Given the description of an element on the screen output the (x, y) to click on. 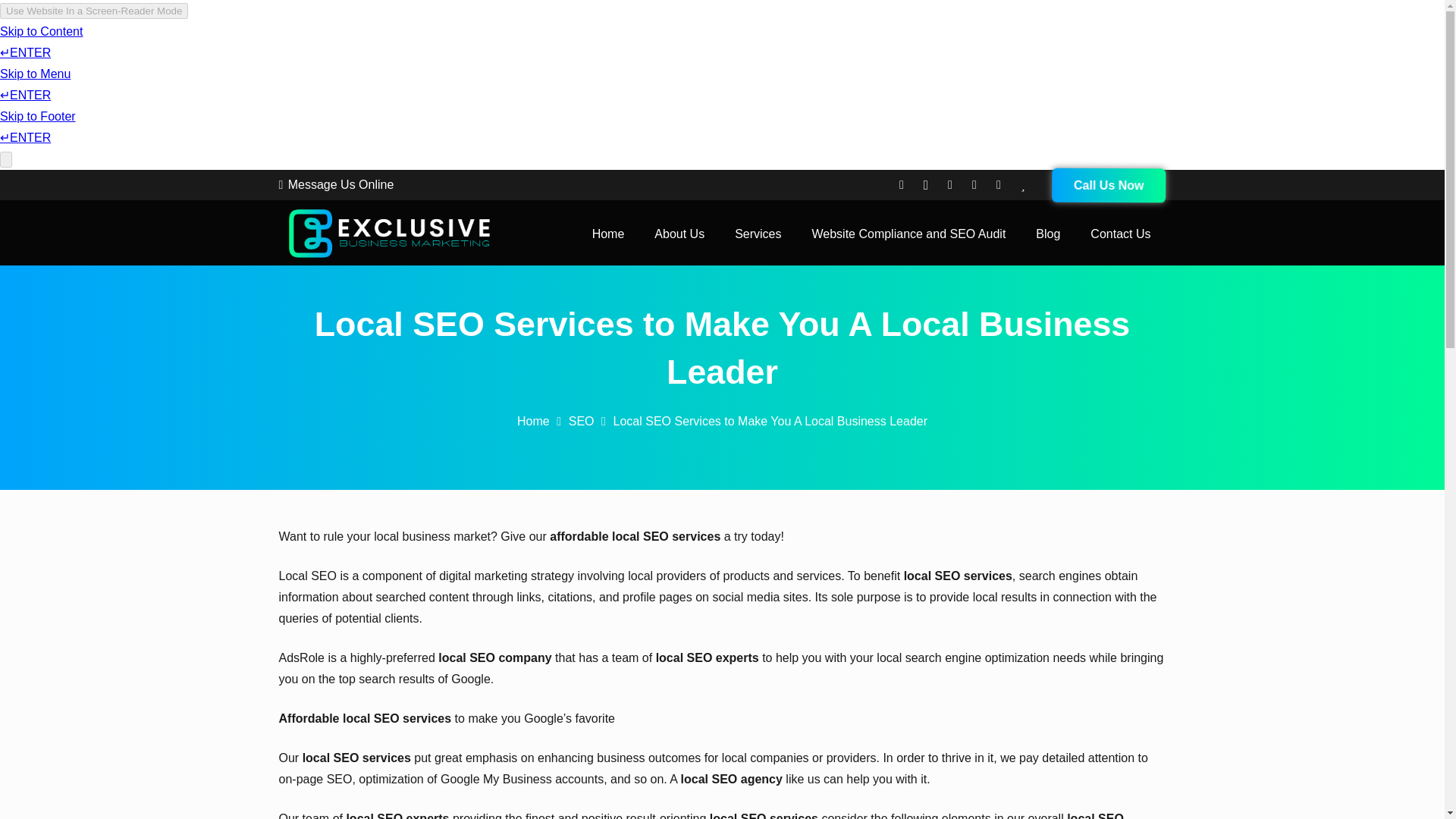
LinkedIn (998, 184)
YouTube (949, 184)
Contact Us (1120, 234)
About Us (679, 234)
Home (608, 234)
Title (1022, 184)
Website Compliance and SEO Audit (908, 234)
Instagram (925, 184)
Services (757, 234)
Call Us Now (1108, 185)
Facebook (901, 184)
Local SEO Services to Make You A Local Business Leader (769, 420)
Message Us Online (336, 184)
SEO (581, 420)
Home (533, 420)
